Given the description of an element on the screen output the (x, y) to click on. 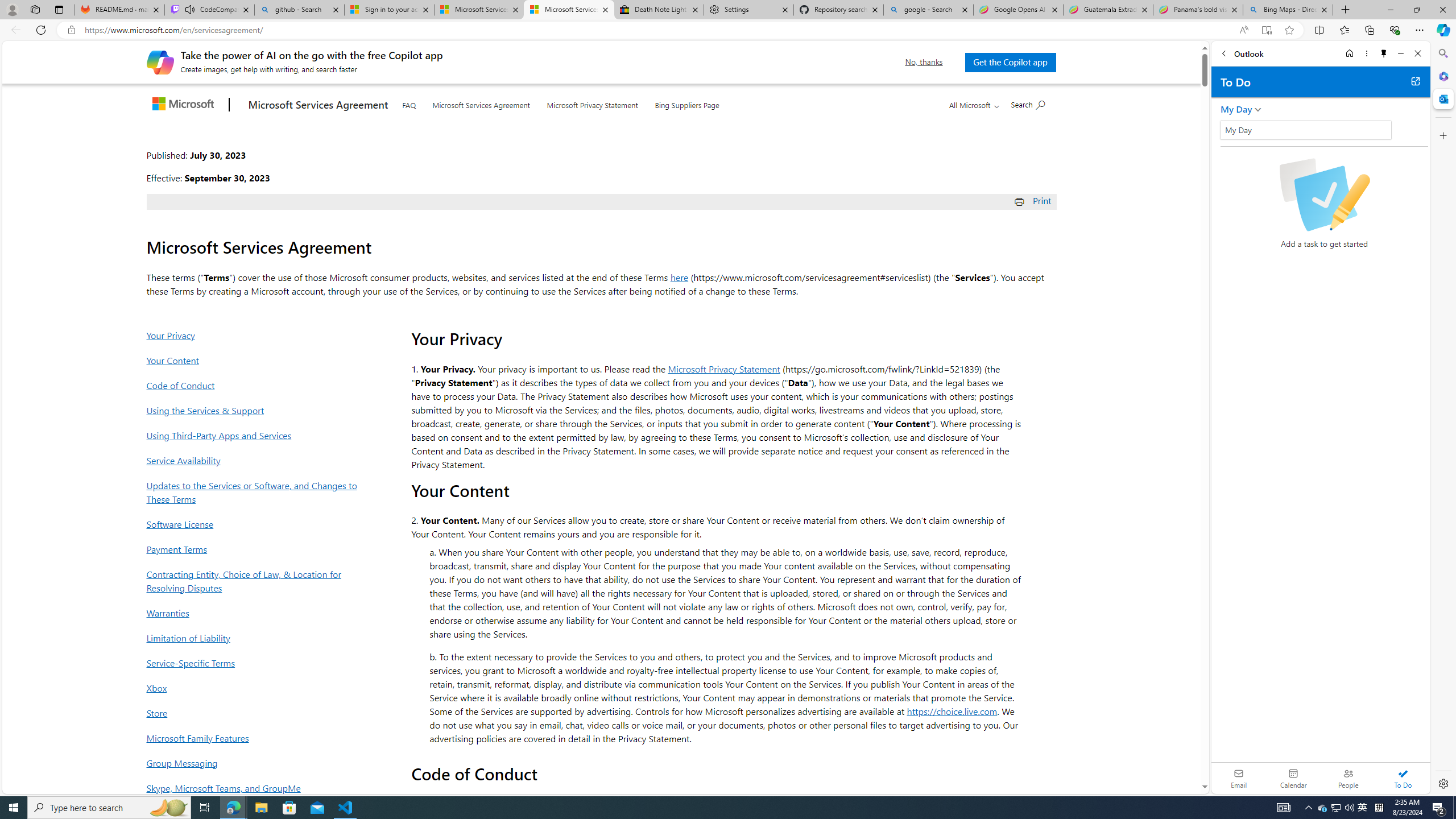
To Do (1402, 777)
Service-Specific Terms (254, 662)
Open in new tab (1414, 80)
https://choice.live.com (952, 711)
